Given the description of an element on the screen output the (x, y) to click on. 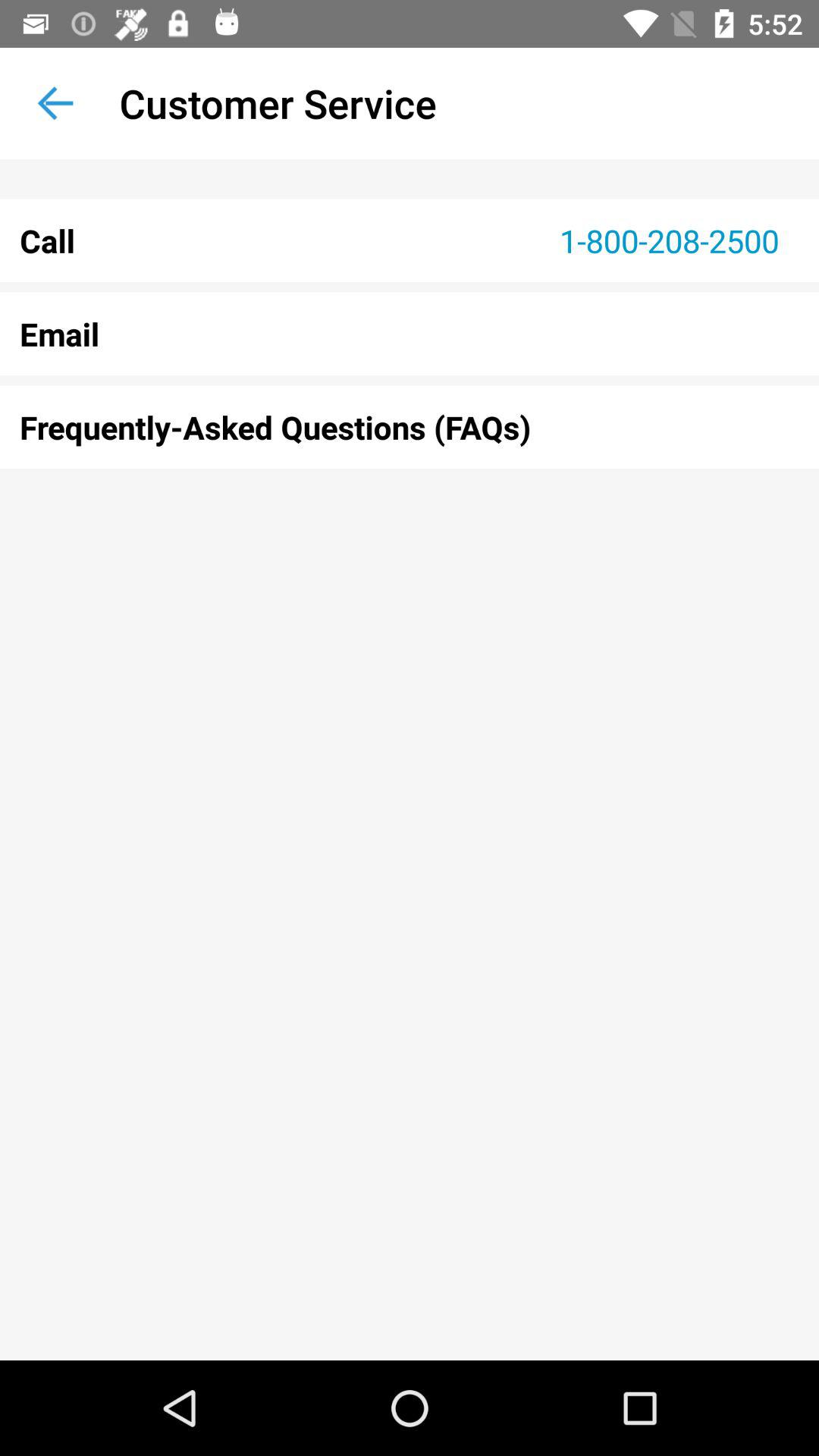
swipe until the frequently asked questions (409, 426)
